Given the description of an element on the screen output the (x, y) to click on. 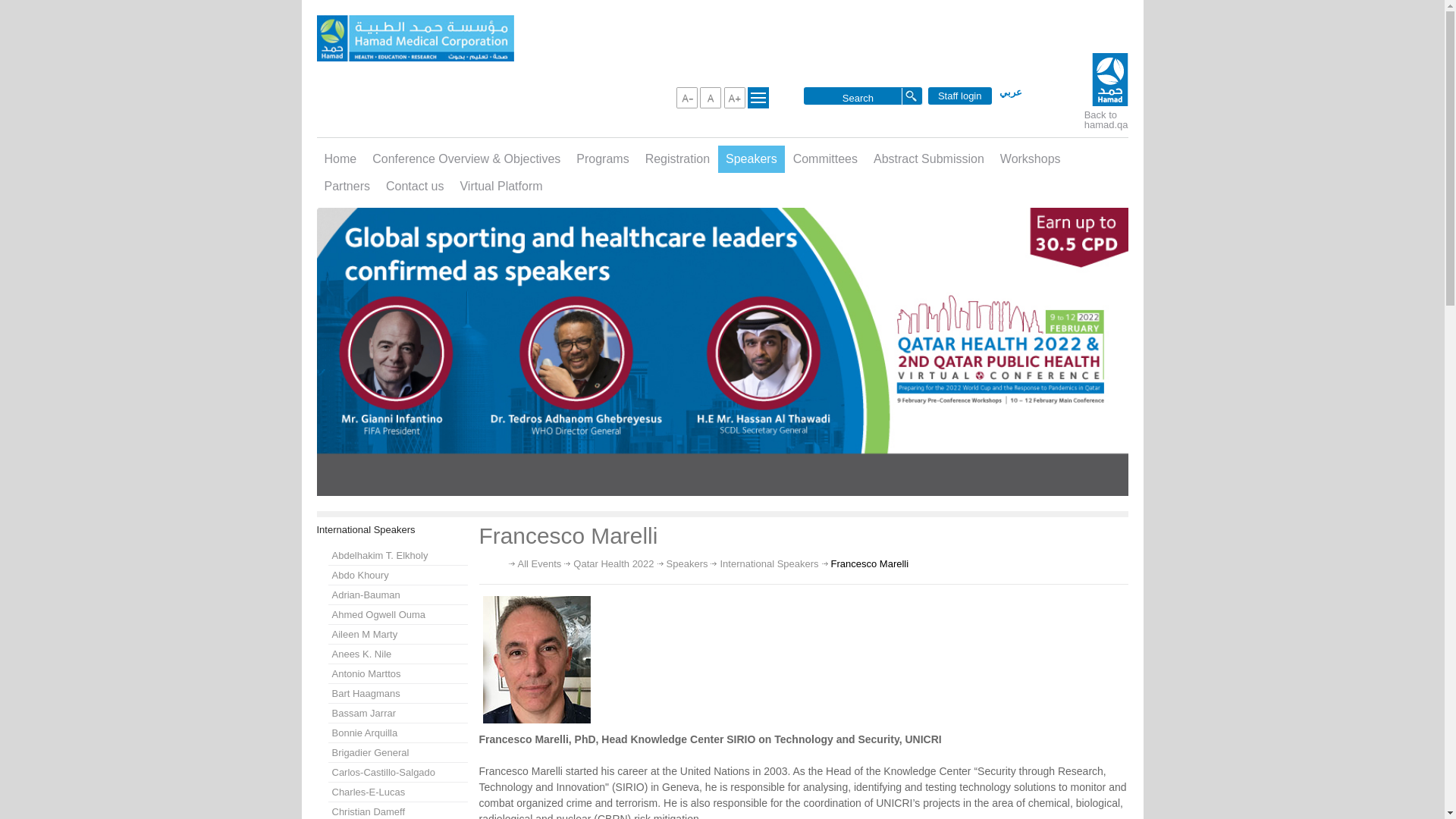
Programs (602, 158)
Speakers (750, 158)
Brigadier General (397, 752)
Adrian-Bauman (397, 594)
Font resize (710, 97)
Font resize (734, 97)
Speakers (686, 563)
Committees (825, 158)
Change contrast (758, 97)
Antonio Marttos (397, 673)
Abdelhakim T. Elkholy (397, 555)
Registration (677, 158)
Workshops (1030, 158)
Contact us (414, 185)
Partners (347, 185)
